Given the description of an element on the screen output the (x, y) to click on. 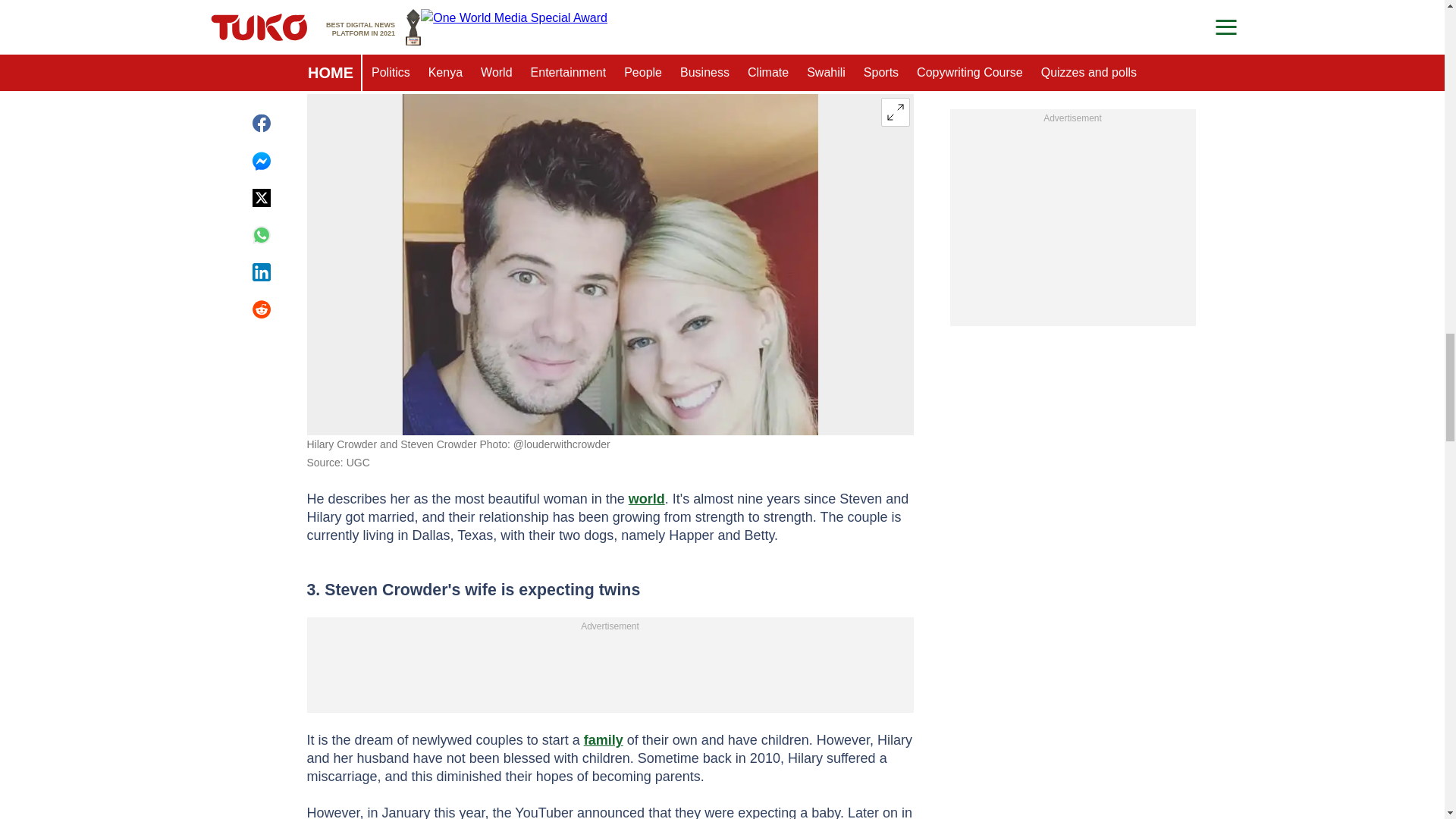
Expand image (895, 111)
